Given the description of an element on the screen output the (x, y) to click on. 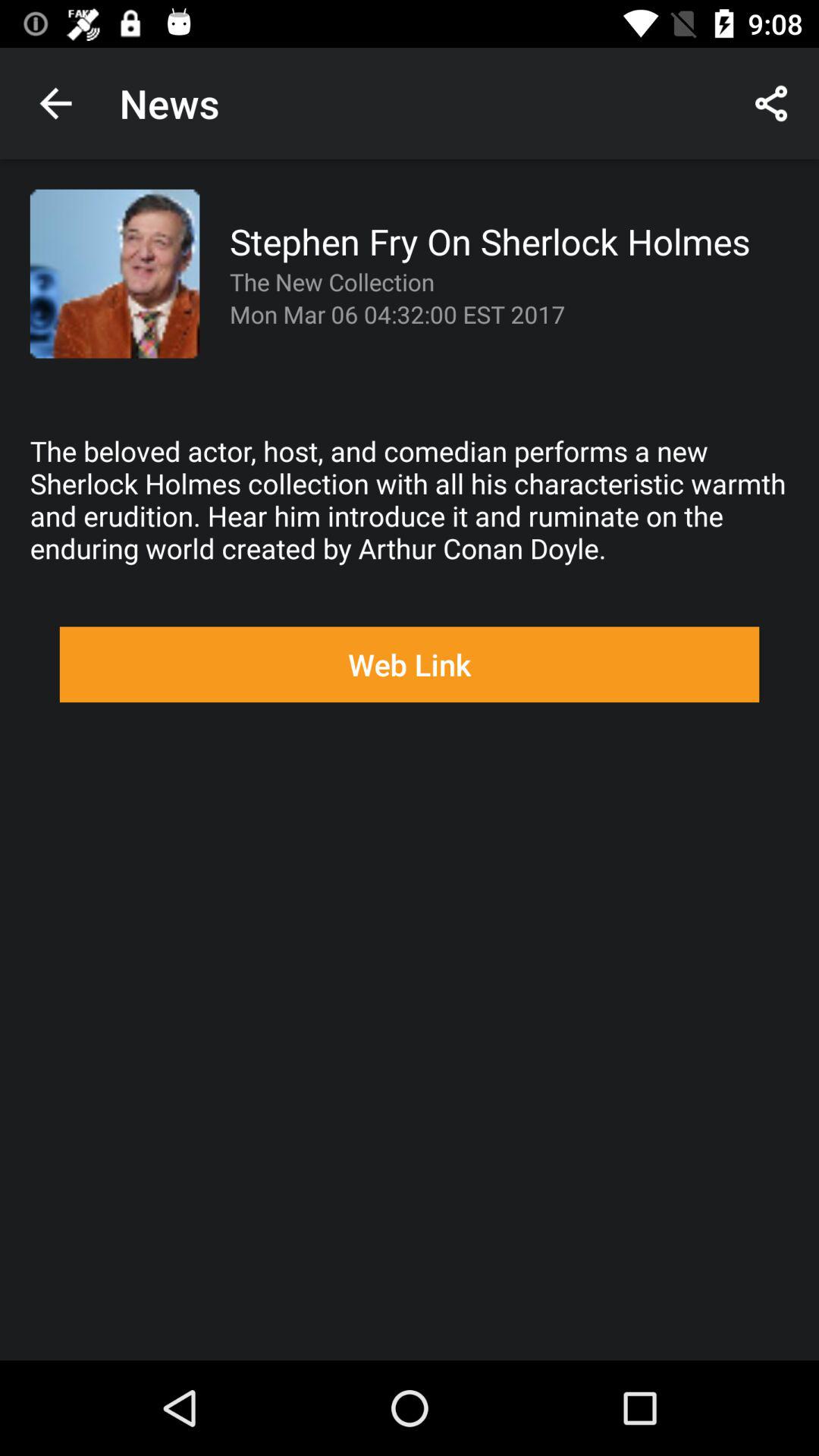
jump to web link (409, 664)
